Given the description of an element on the screen output the (x, y) to click on. 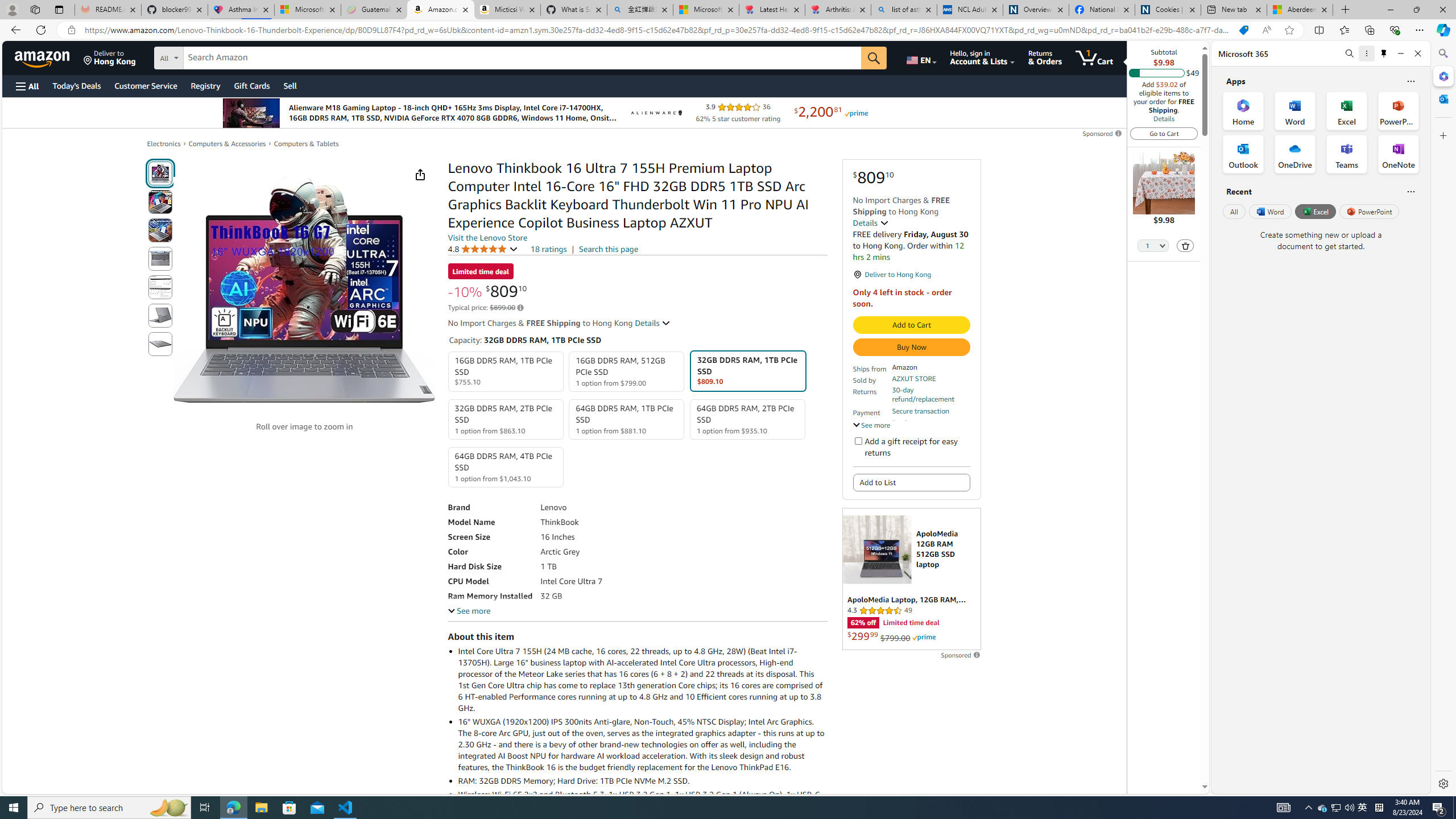
Open Menu (26, 86)
Learn more about Amazon pricing and savings (520, 307)
30-day refund/replacement (930, 394)
OneNote Office App (1398, 154)
Excel (1315, 210)
AZXUT STORE (913, 378)
Registry (205, 85)
Hello, sign in Account & Lists (982, 57)
16GB DDR5 RAM, 1TB PCIe SSD $755.10 (505, 371)
